Given the description of an element on the screen output the (x, y) to click on. 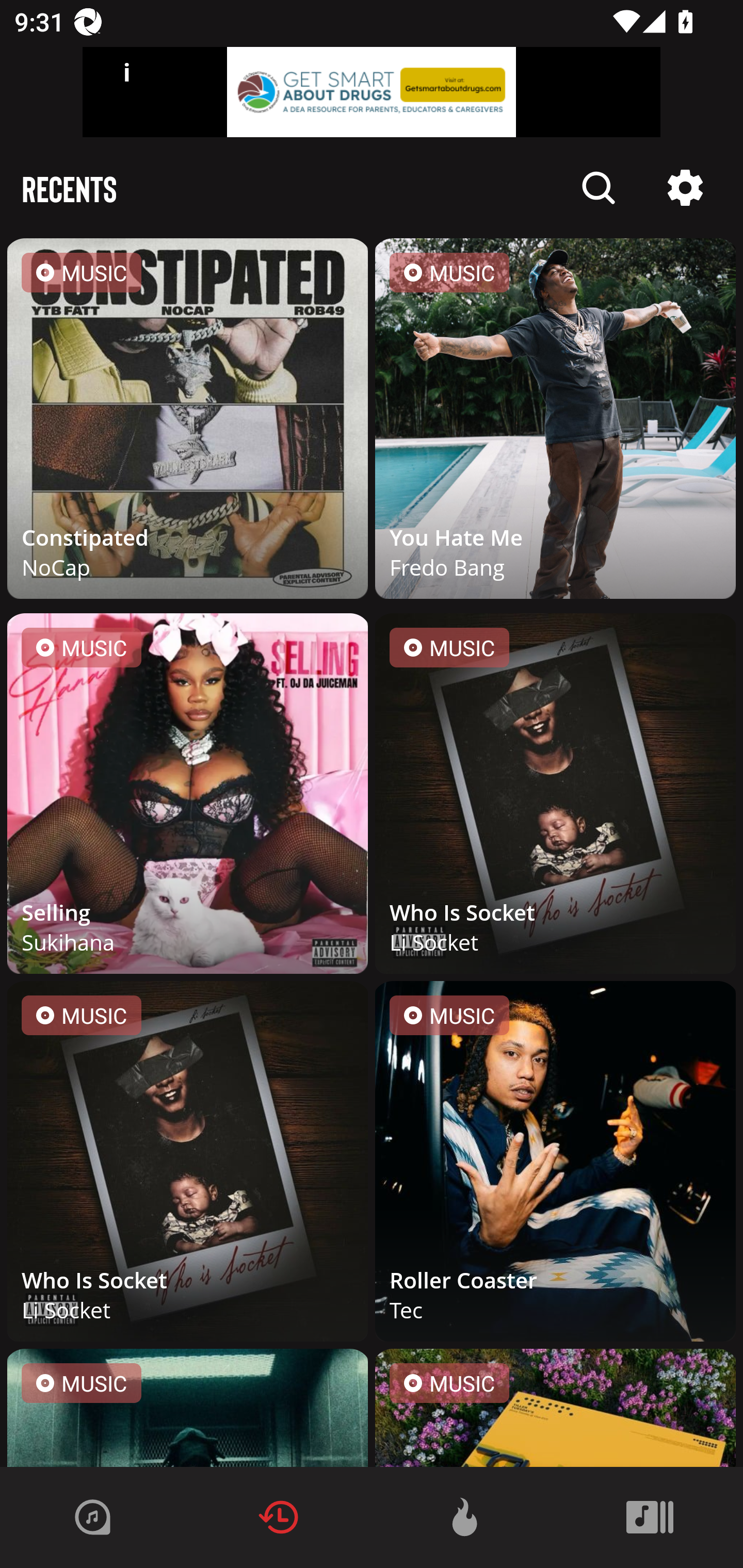
Description (598, 188)
Description (684, 188)
MUSIC Constipated NoCap (187, 422)
MUSIC You Hate Me Fredo Bang (555, 422)
MUSIC Selling Sukihana (187, 797)
MUSIC Who Is Socket Li Socket (555, 797)
MUSIC Who Is Socket Li Socket (187, 1164)
MUSIC Roller Coaster Tec (555, 1164)
